Given the description of an element on the screen output the (x, y) to click on. 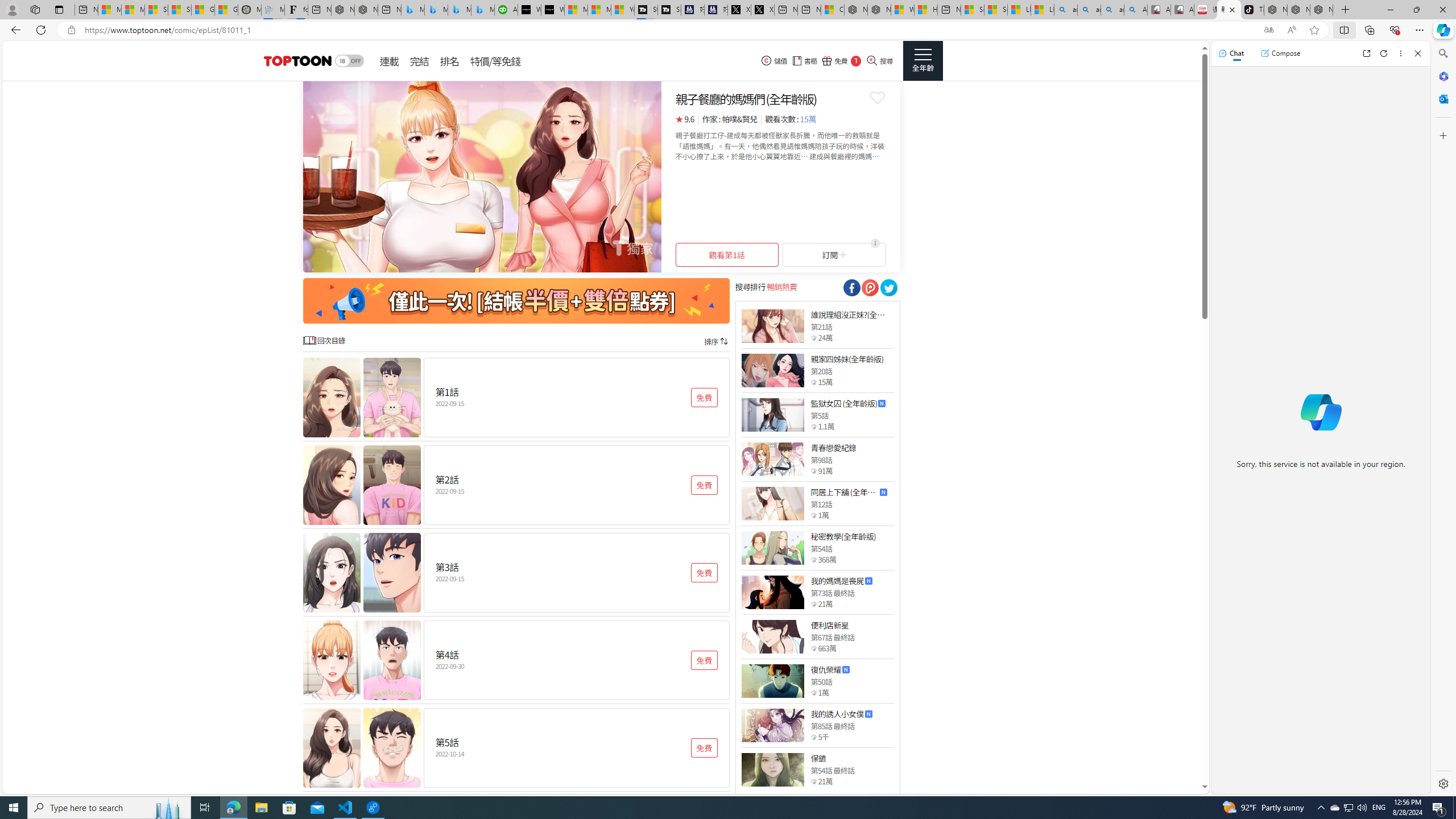
TikTok (1252, 9)
Accounting Software for Accountants, CPAs and Bookkeepers (505, 9)
Microsoft Bing Travel - Shangri-La Hotel Bangkok (482, 9)
amazon - Search Images (1112, 9)
